Given the description of an element on the screen output the (x, y) to click on. 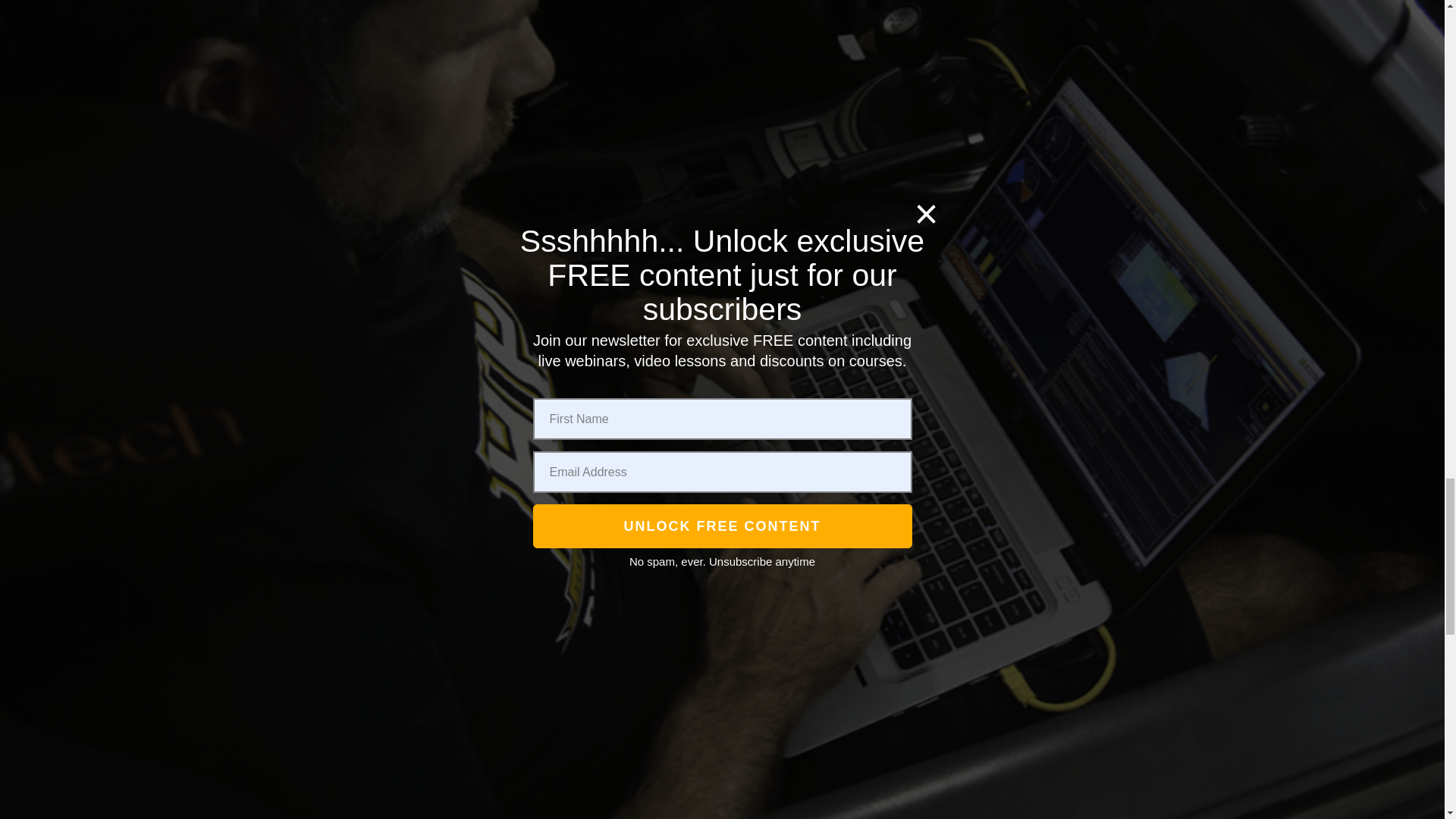
Click here to view Armaki  (355, 639)
Click here to view Andre.Simon (355, 431)
Click here to view Andre.Simon (355, 499)
Click here to view Armaki  (355, 718)
